Given the description of an element on the screen output the (x, y) to click on. 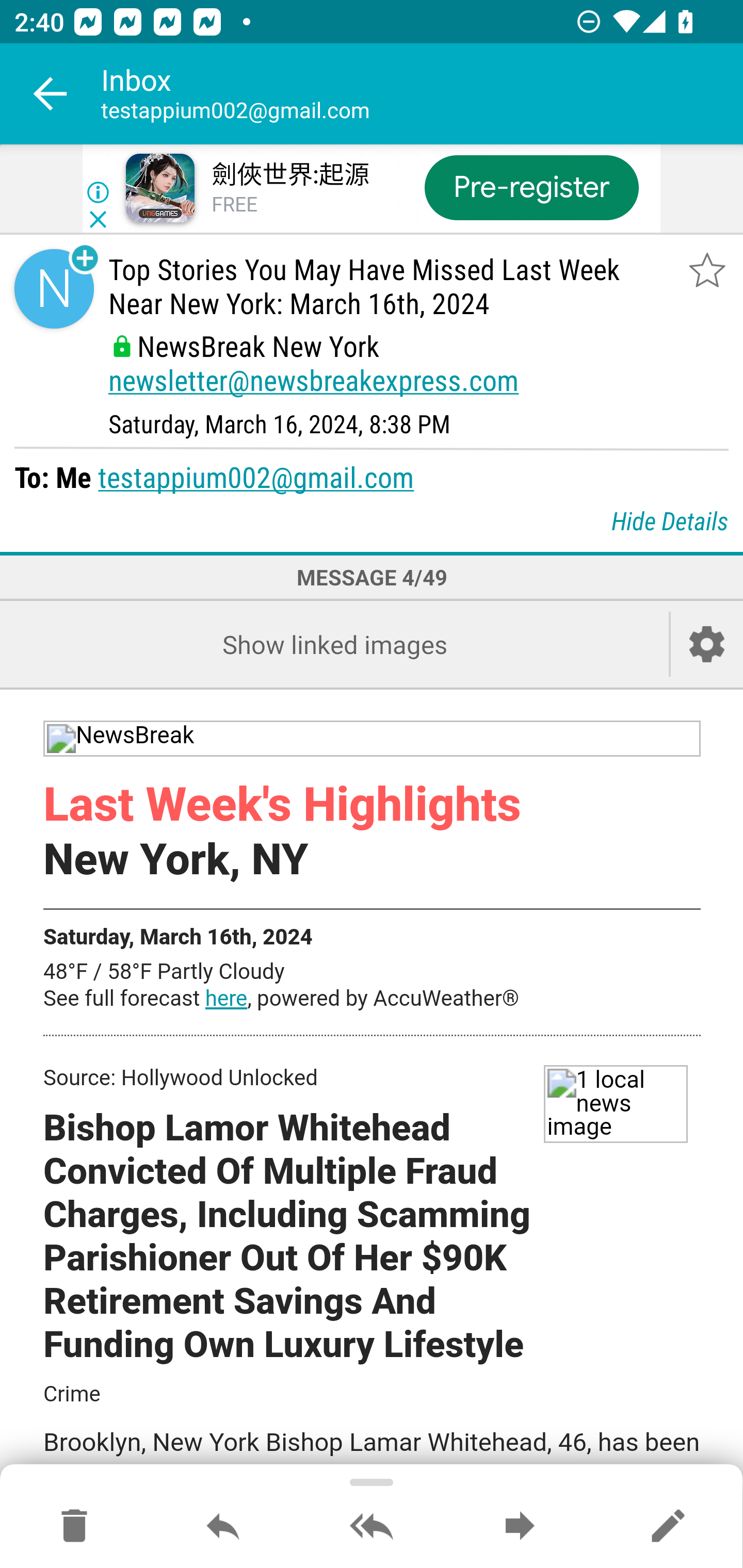
Navigate up (50, 93)
Inbox testappium002@gmail.com (422, 93)
Pre-register (530, 187)
劍俠世界:起源 (289, 175)
FREE (234, 204)
Sender contact button (53, 289)
Show linked images (334, 643)
Account setup (706, 643)
here (225, 999)
Move to Deleted (74, 1527)
Reply (222, 1527)
Reply all (371, 1527)
Forward (519, 1527)
Reply as new (667, 1527)
